Given the description of an element on the screen output the (x, y) to click on. 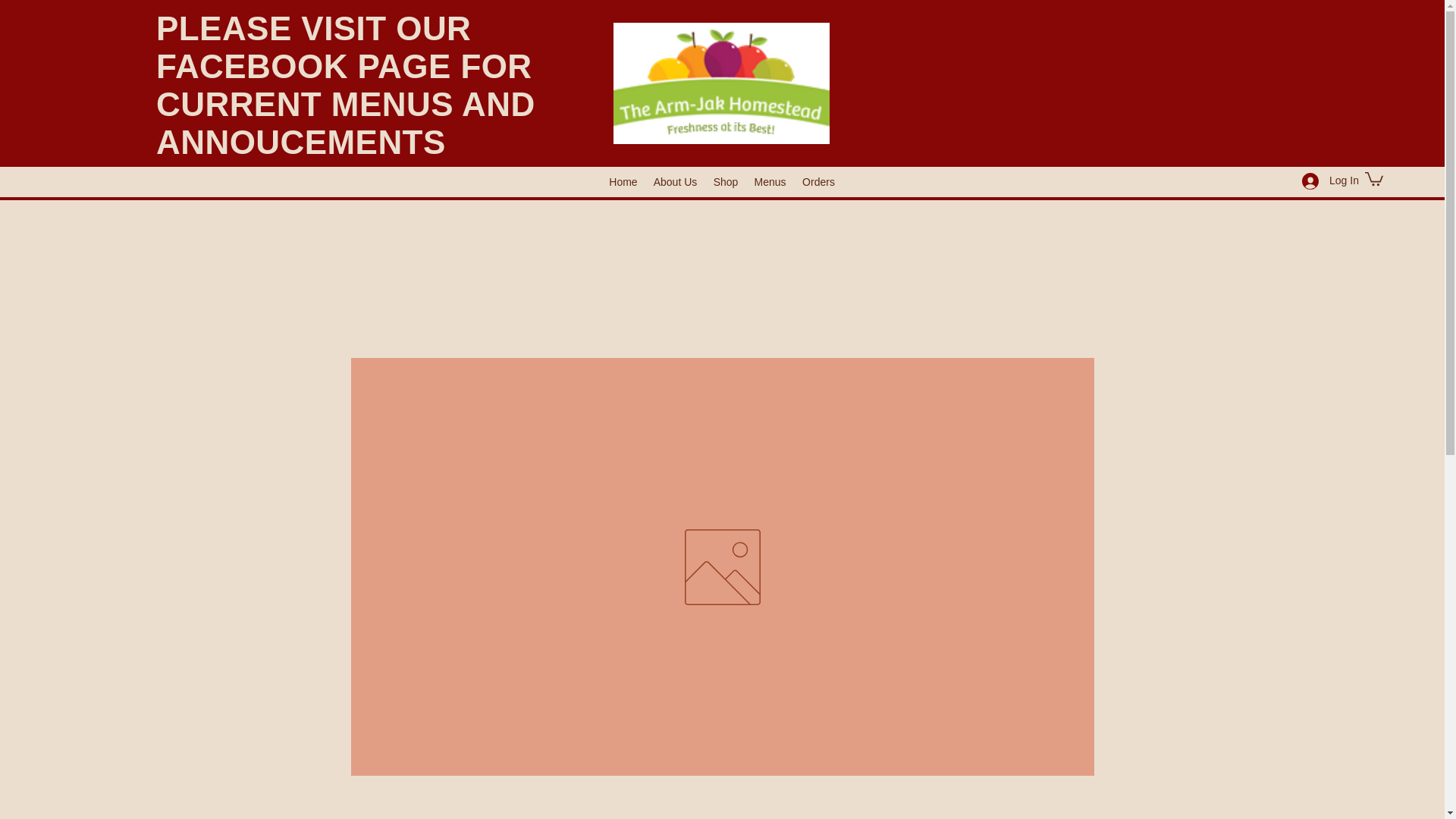
Orders (818, 181)
About Us (674, 181)
Log In (1325, 180)
Menus (769, 181)
Shop (724, 181)
Home (623, 181)
